Given the description of an element on the screen output the (x, y) to click on. 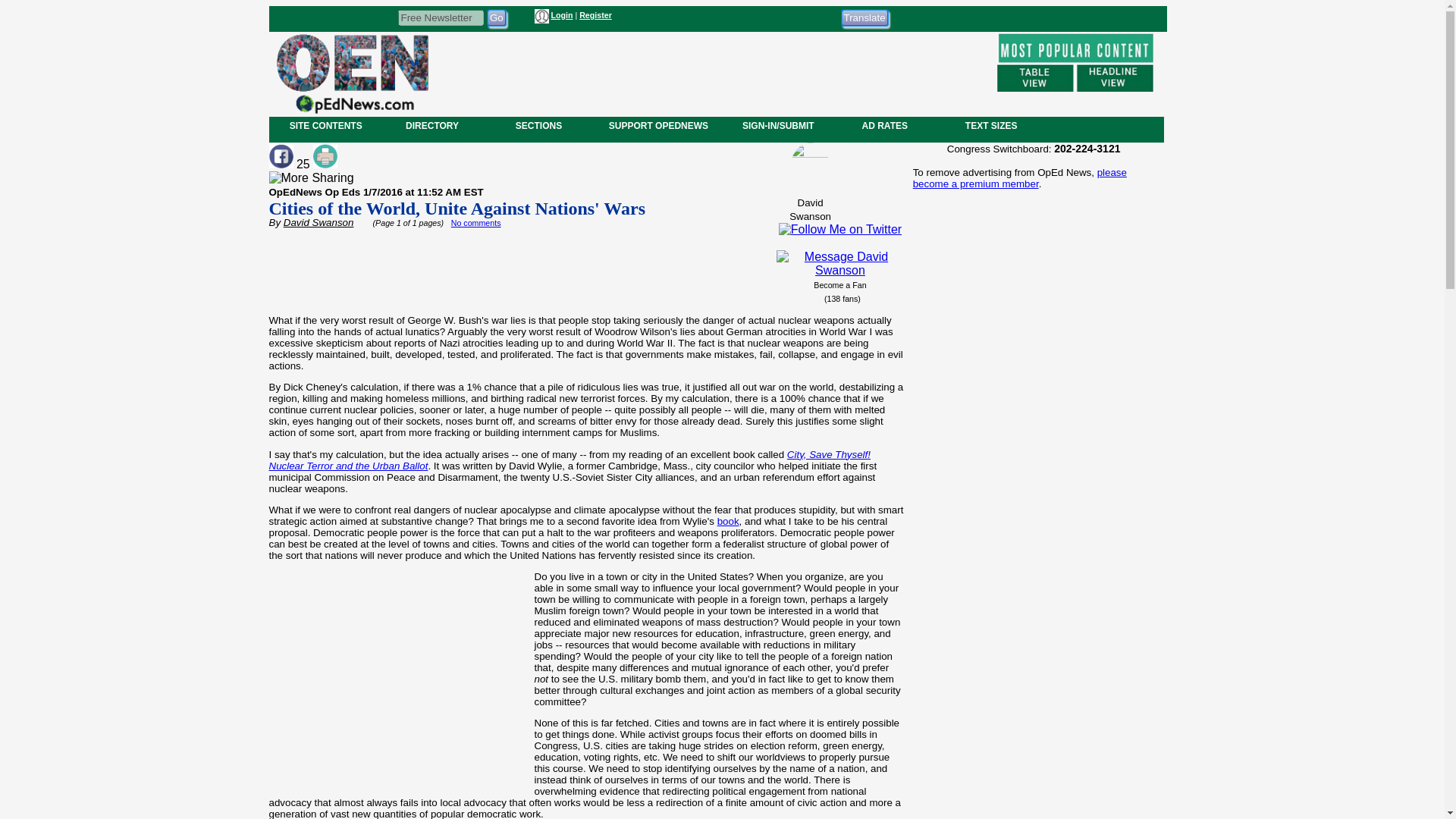
Login (561, 14)
TEXT SIZES (990, 125)
Free Newsletter (440, 17)
Advertisement (397, 689)
Follow Me on Twitter (839, 229)
David Swanson (318, 222)
SECTIONS (537, 125)
Printer Friendly Page (325, 156)
Translate (864, 17)
More Sharing (310, 178)
Advertisement (711, 71)
AD RATES (884, 125)
Share on Facebook (279, 156)
Advertisement (1032, 702)
Message David Swanson (839, 263)
